Given the description of an element on the screen output the (x, y) to click on. 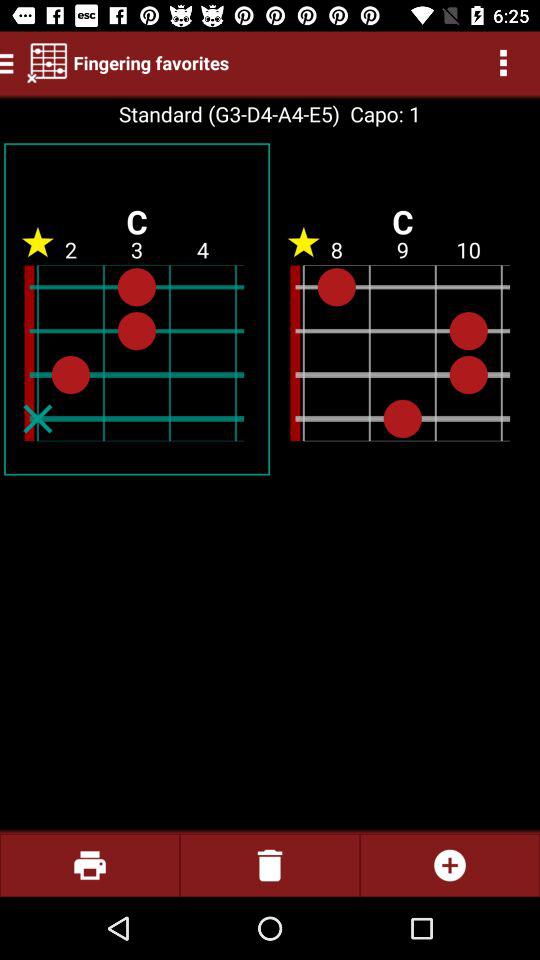
press the standard g3 d4 item (228, 113)
